Given the description of an element on the screen output the (x, y) to click on. 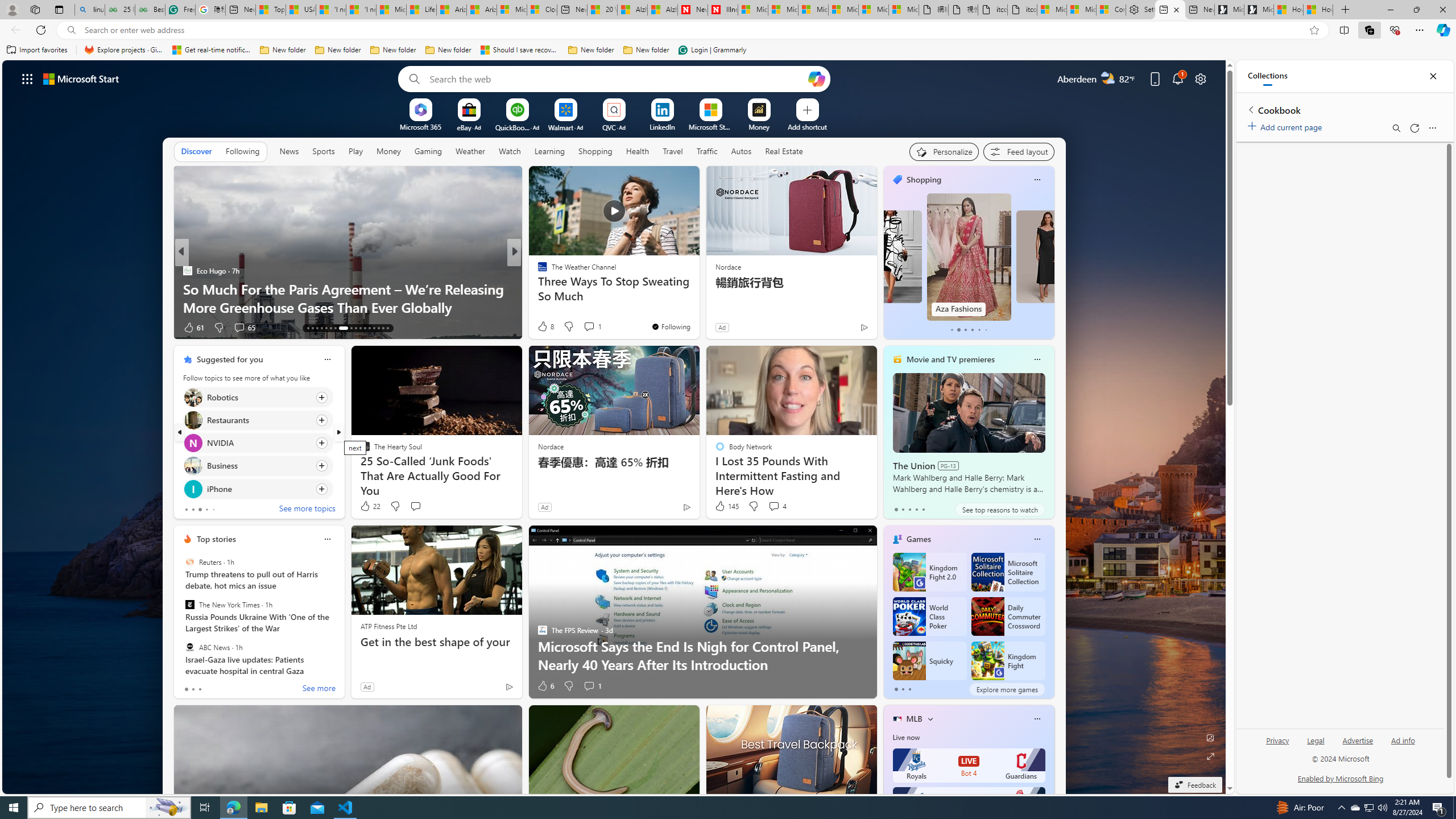
Should I save recovered Word documents? - Microsoft Support (519, 49)
Click to follow topic NVIDIA (257, 442)
The Independent (537, 270)
AutomationID: tab-19 (335, 328)
Explore more games (1006, 689)
AutomationID: tab-22 (355, 328)
